Given the description of an element on the screen output the (x, y) to click on. 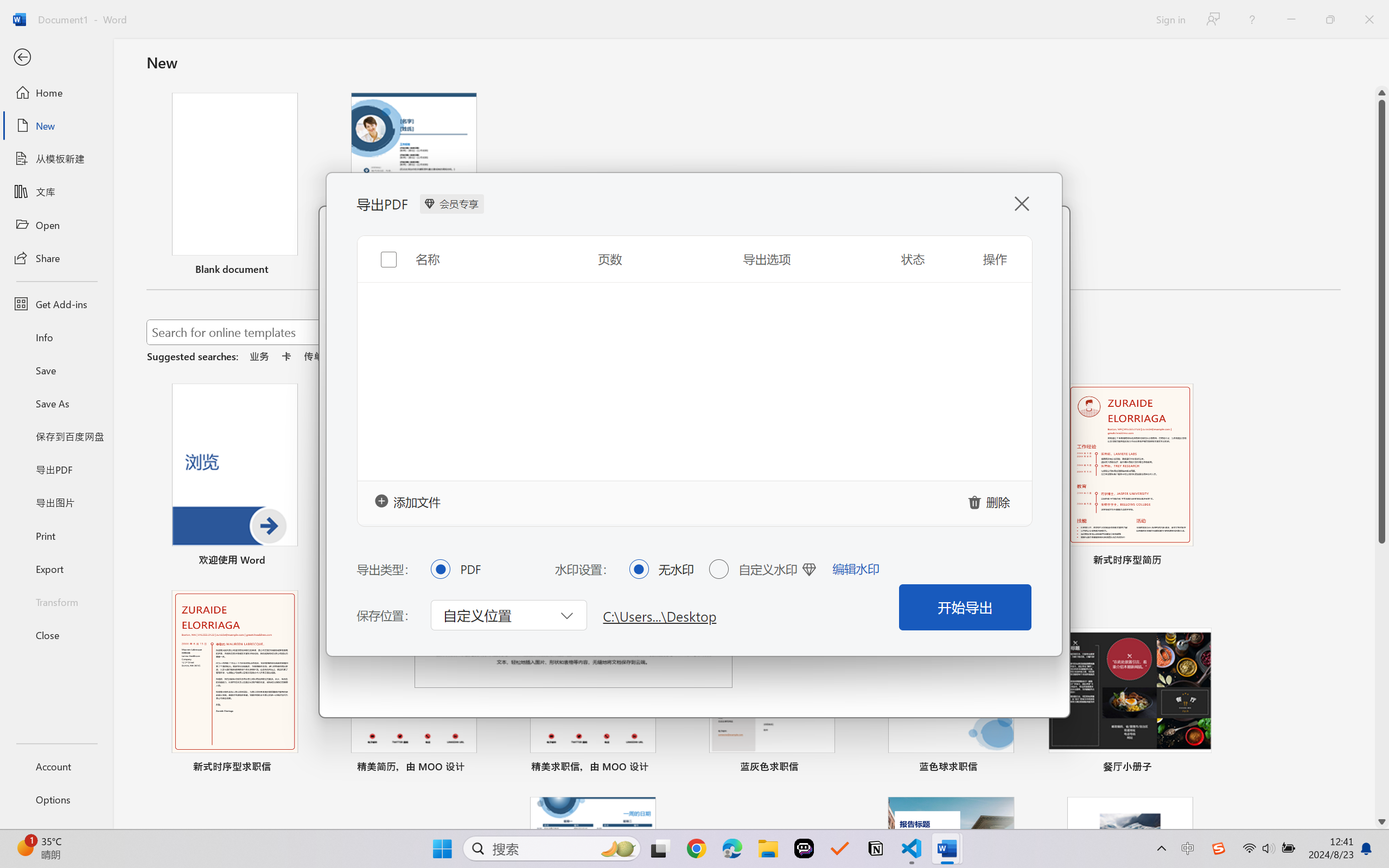
Line up (1382, 92)
Toggle selection for all items (380, 250)
